Given the description of an element on the screen output the (x, y) to click on. 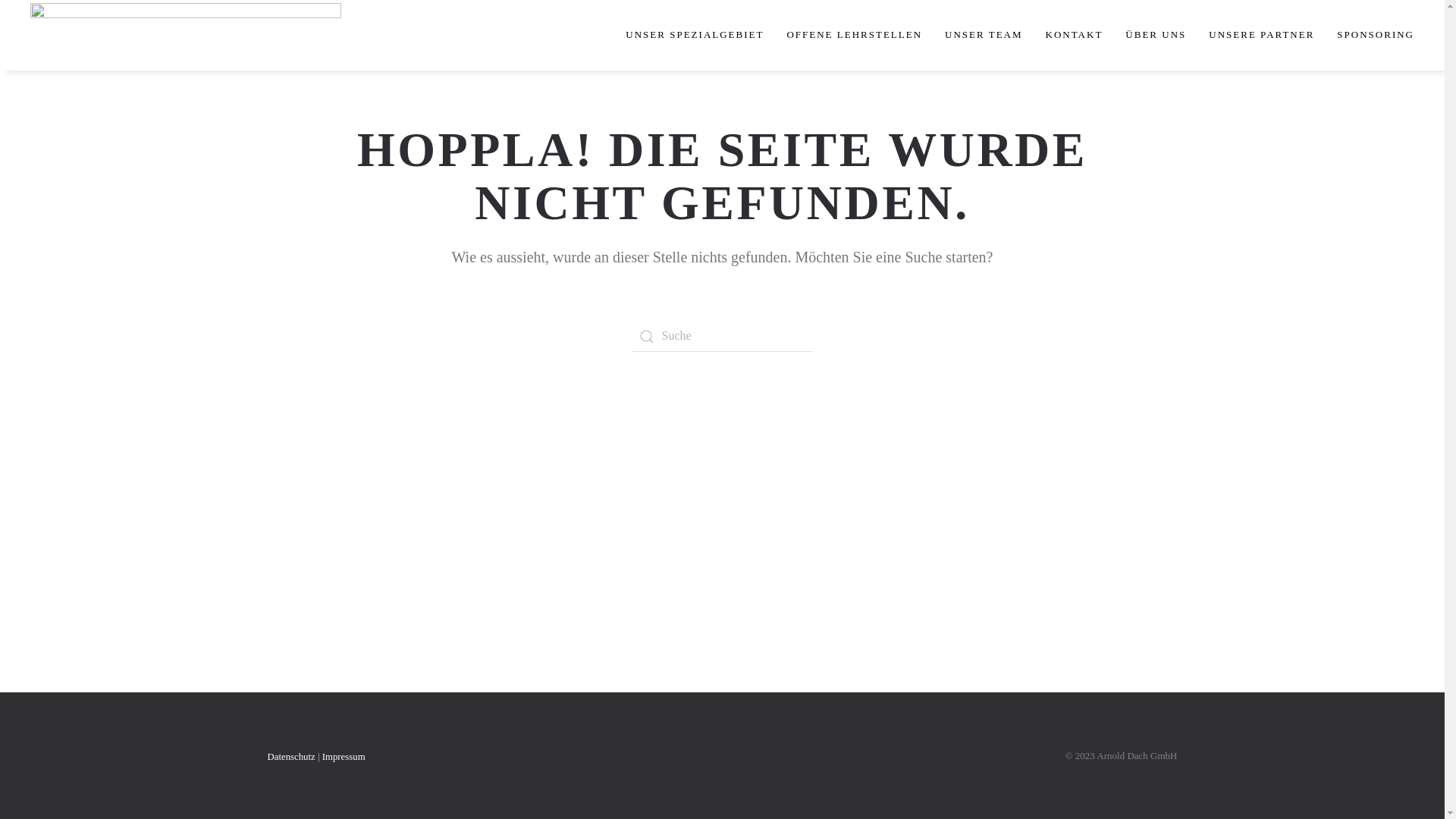
UNSER SPEZIALGEBIET Element type: text (694, 34)
KONTAKT Element type: text (1074, 34)
UNSER TEAM Element type: text (983, 34)
UNSERE PARTNER Element type: text (1261, 34)
Datenschutz Element type: text (290, 756)
Impressum Element type: text (343, 756)
OFFENE LEHRSTELLEN Element type: text (854, 34)
SPONSORING Element type: text (1375, 34)
